Given the description of an element on the screen output the (x, y) to click on. 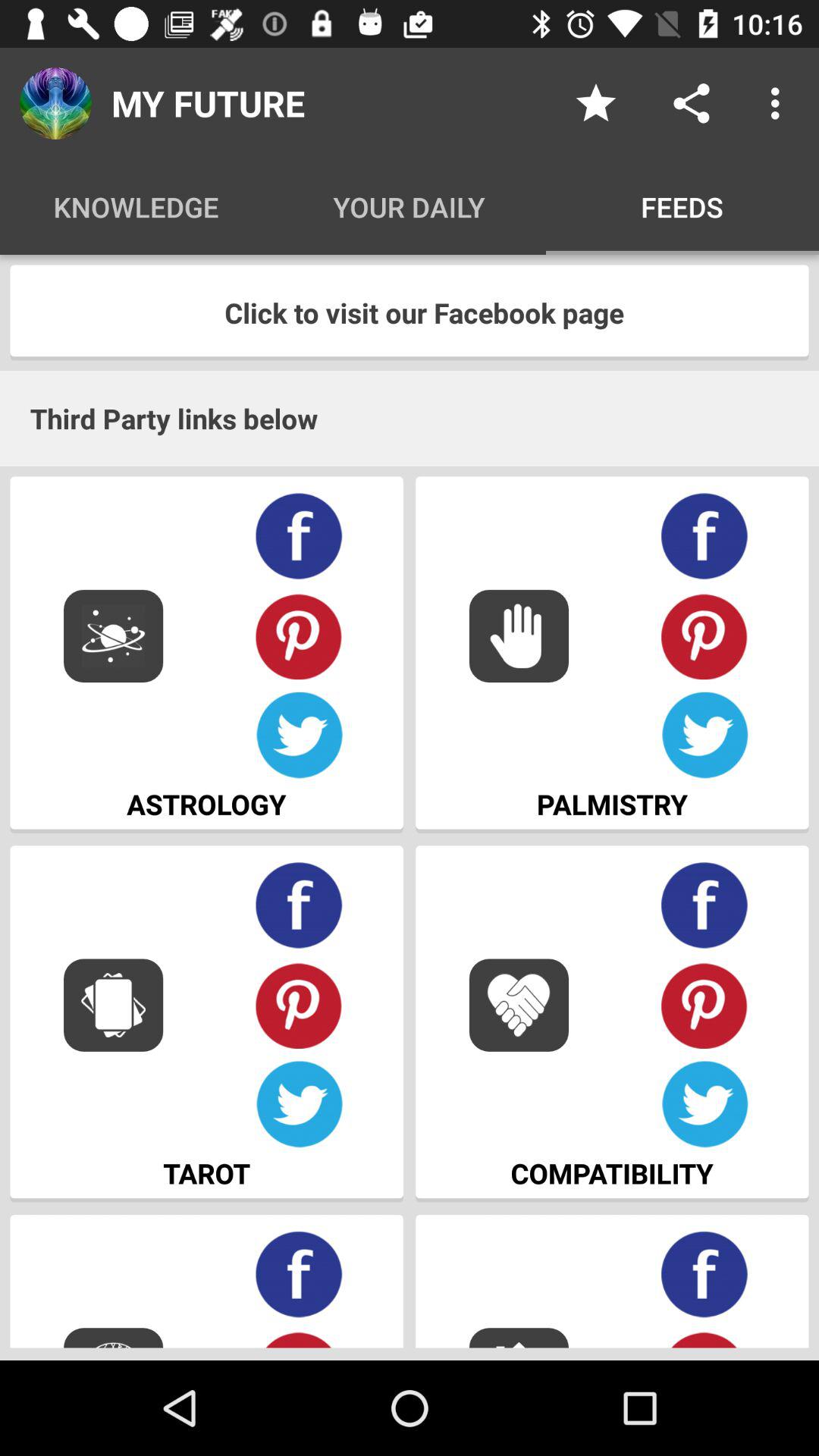
share to twitter (299, 1104)
